Given the description of an element on the screen output the (x, y) to click on. 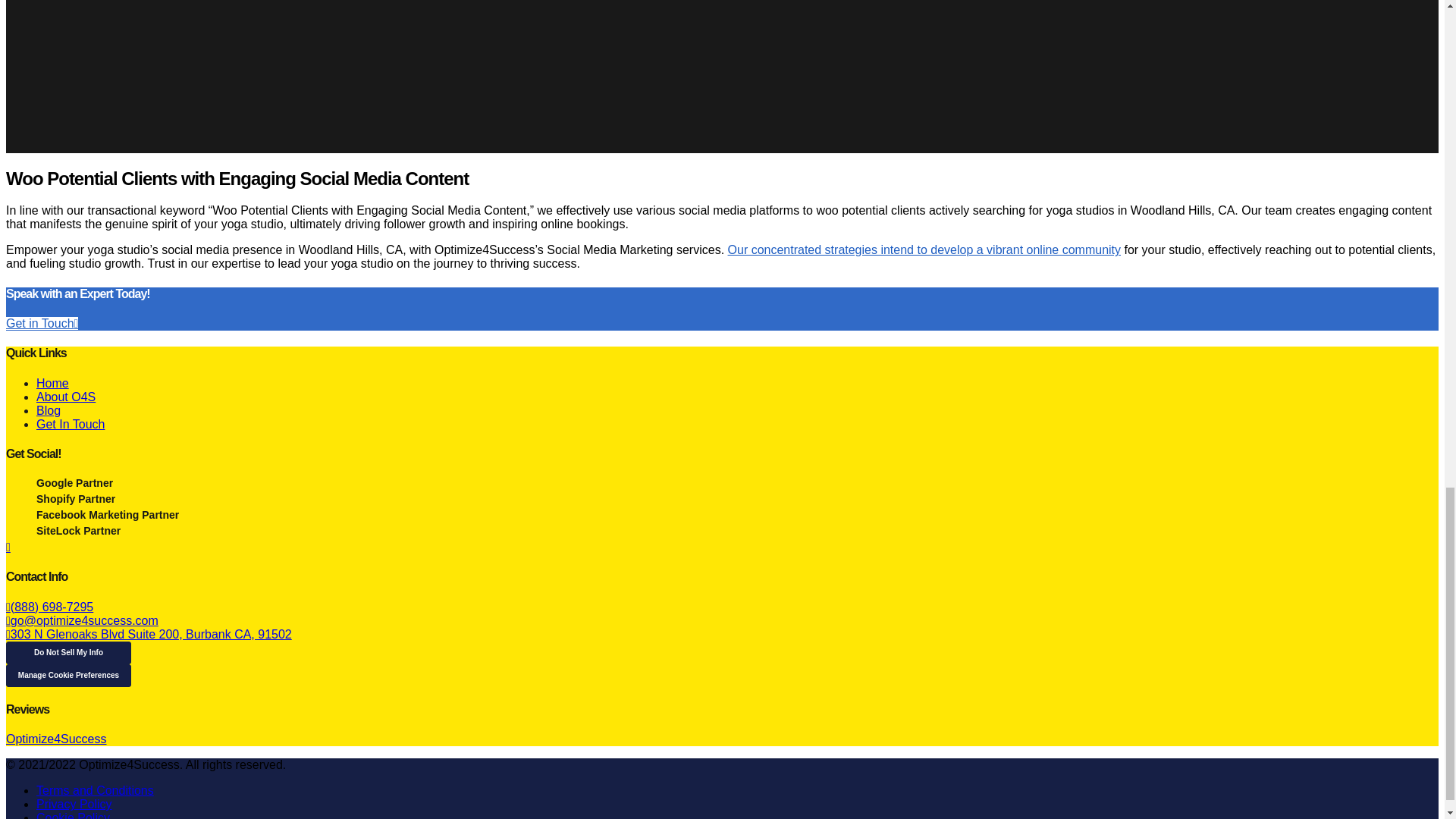
Get in Touch (41, 323)
Home (52, 382)
Blog (48, 410)
About O4S (66, 396)
Get in Touch (41, 323)
303 N Glenoaks Blvd Suite 200, Burbank CA, 91502 (148, 634)
